Given the description of an element on the screen output the (x, y) to click on. 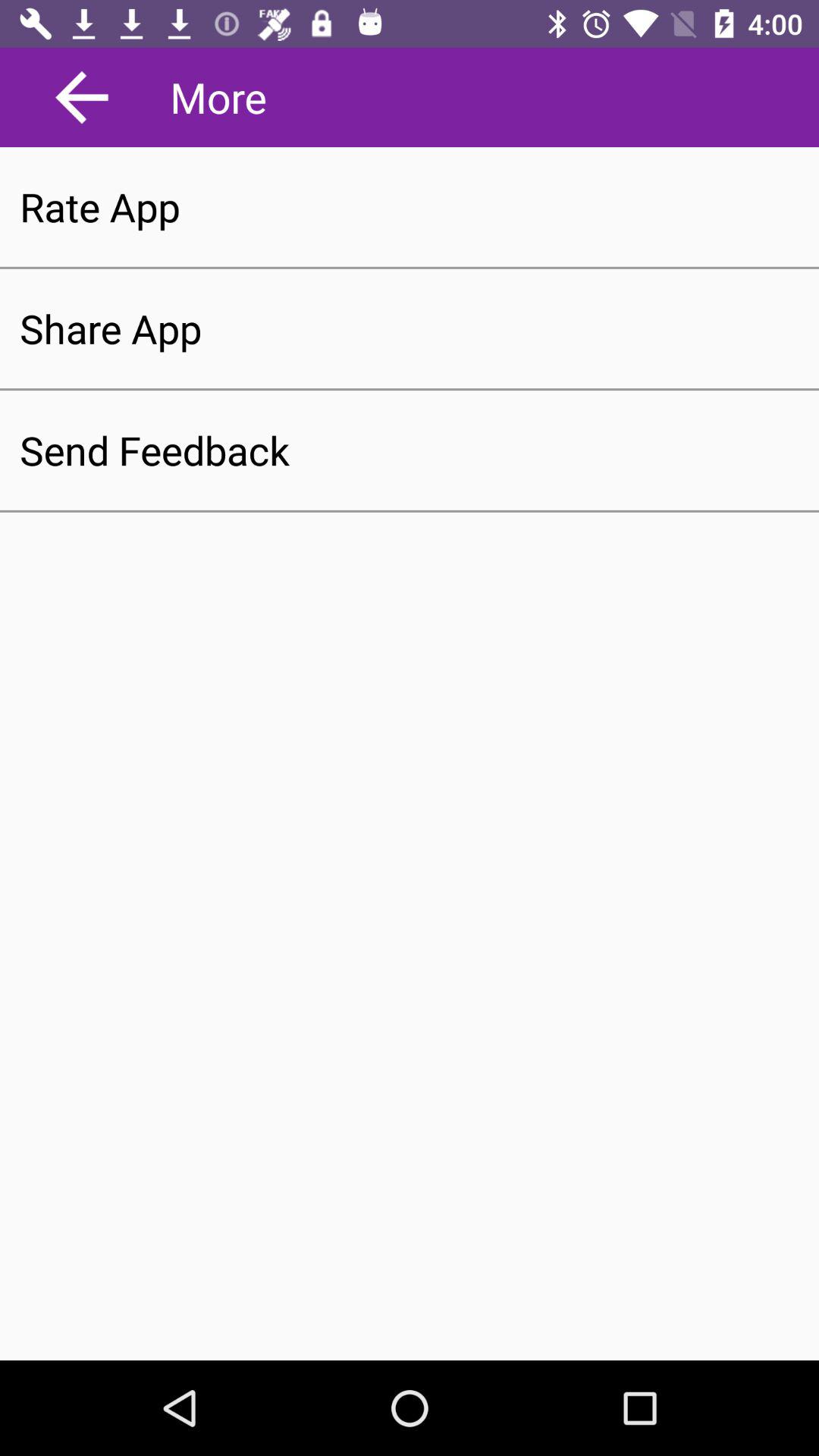
flip to the send feedback item (409, 450)
